Given the description of an element on the screen output the (x, y) to click on. 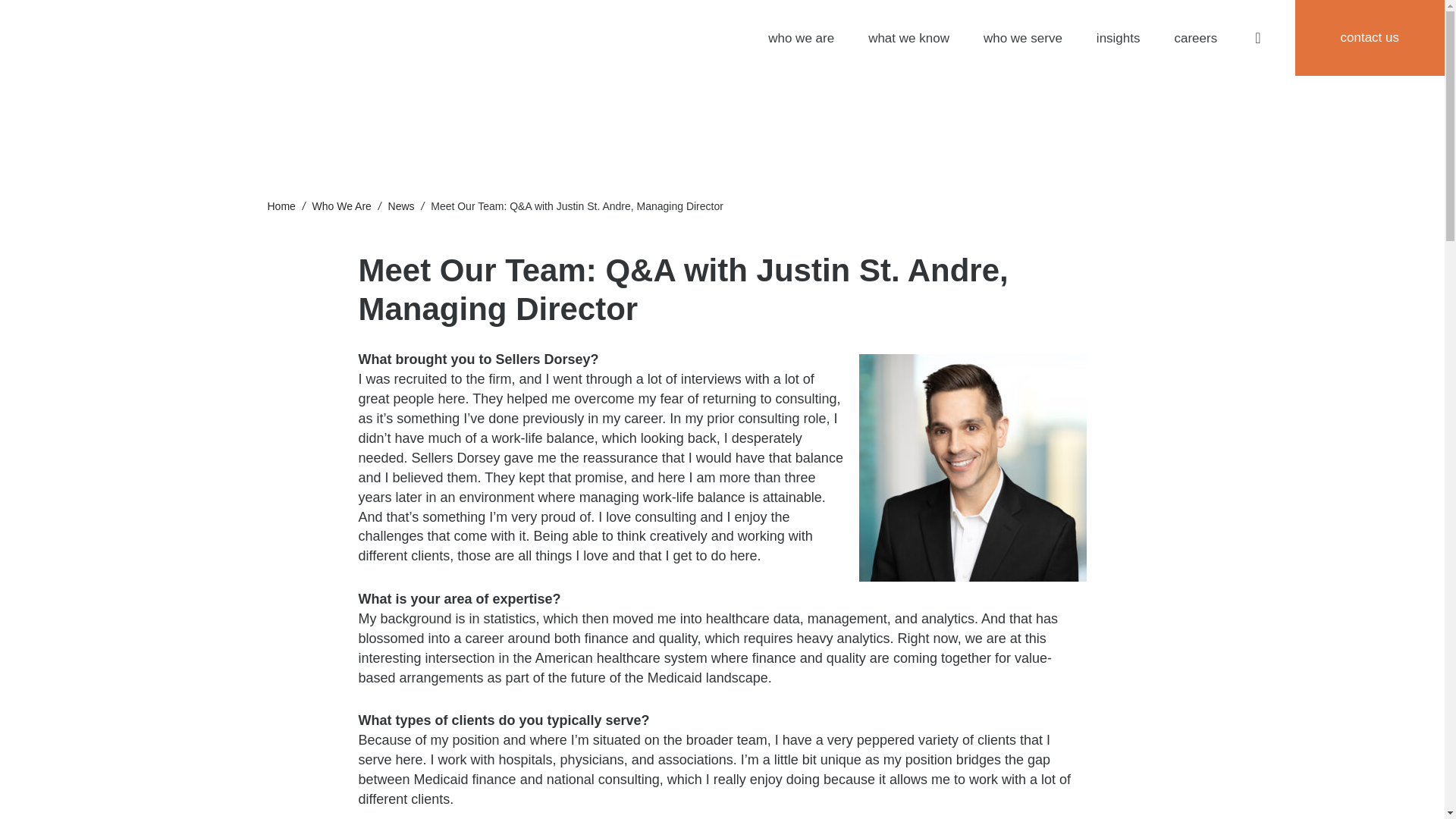
Who We Are (342, 205)
what we know (908, 38)
News (401, 205)
Sellers Dorsey (188, 37)
who we serve (1023, 38)
Home (280, 205)
